Given the description of an element on the screen output the (x, y) to click on. 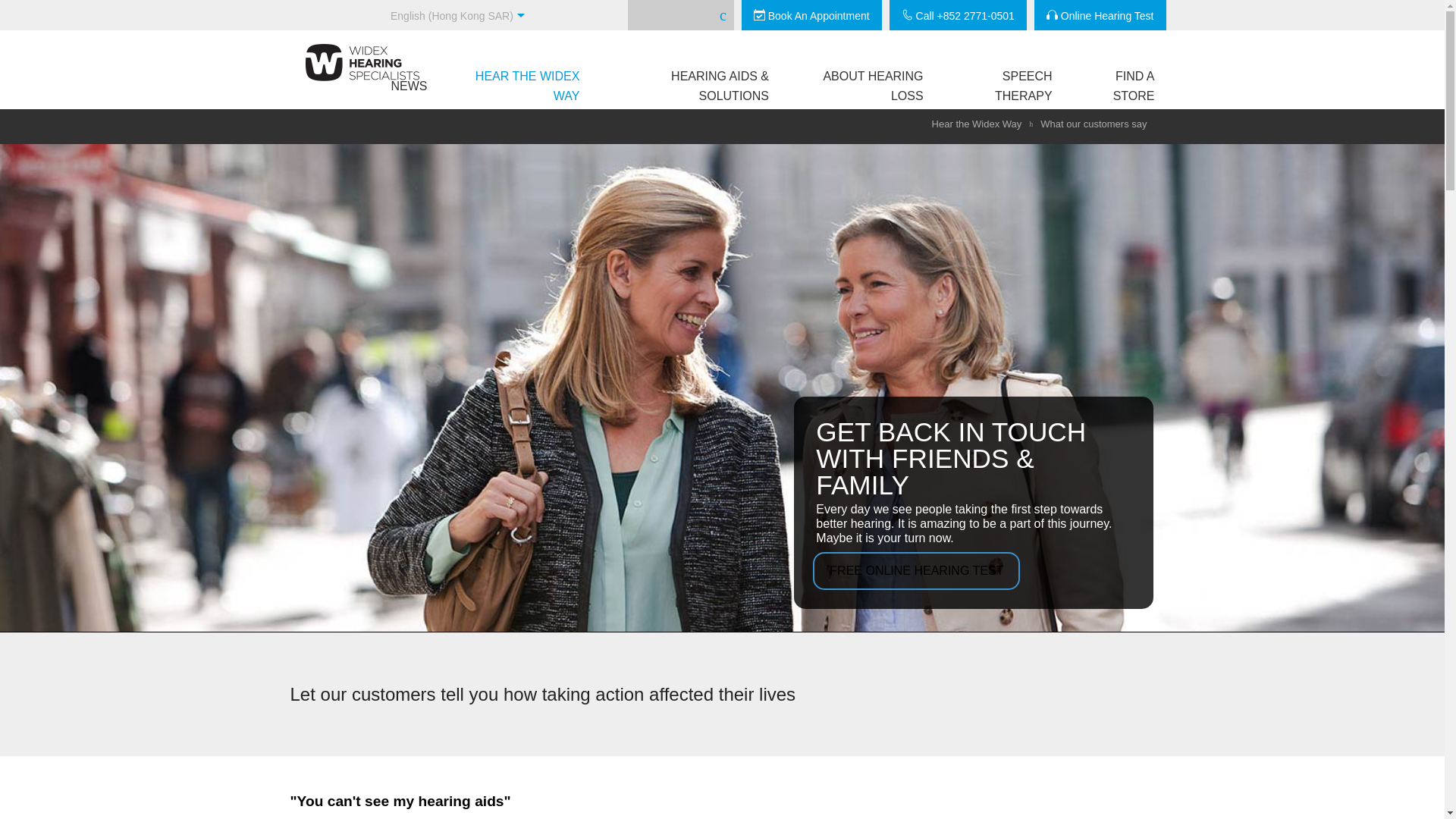
HEAR THE WIDEX WAY (512, 85)
FIND A STORE (1108, 85)
close menu (1398, 7)
Online Hearing Test (1099, 15)
SPEECH THERAPY (997, 85)
Hear the Widex Way (980, 124)
What our customers say (1093, 124)
NEWS (408, 86)
ABOUT HEARING LOSS (855, 85)
